Given the description of an element on the screen output the (x, y) to click on. 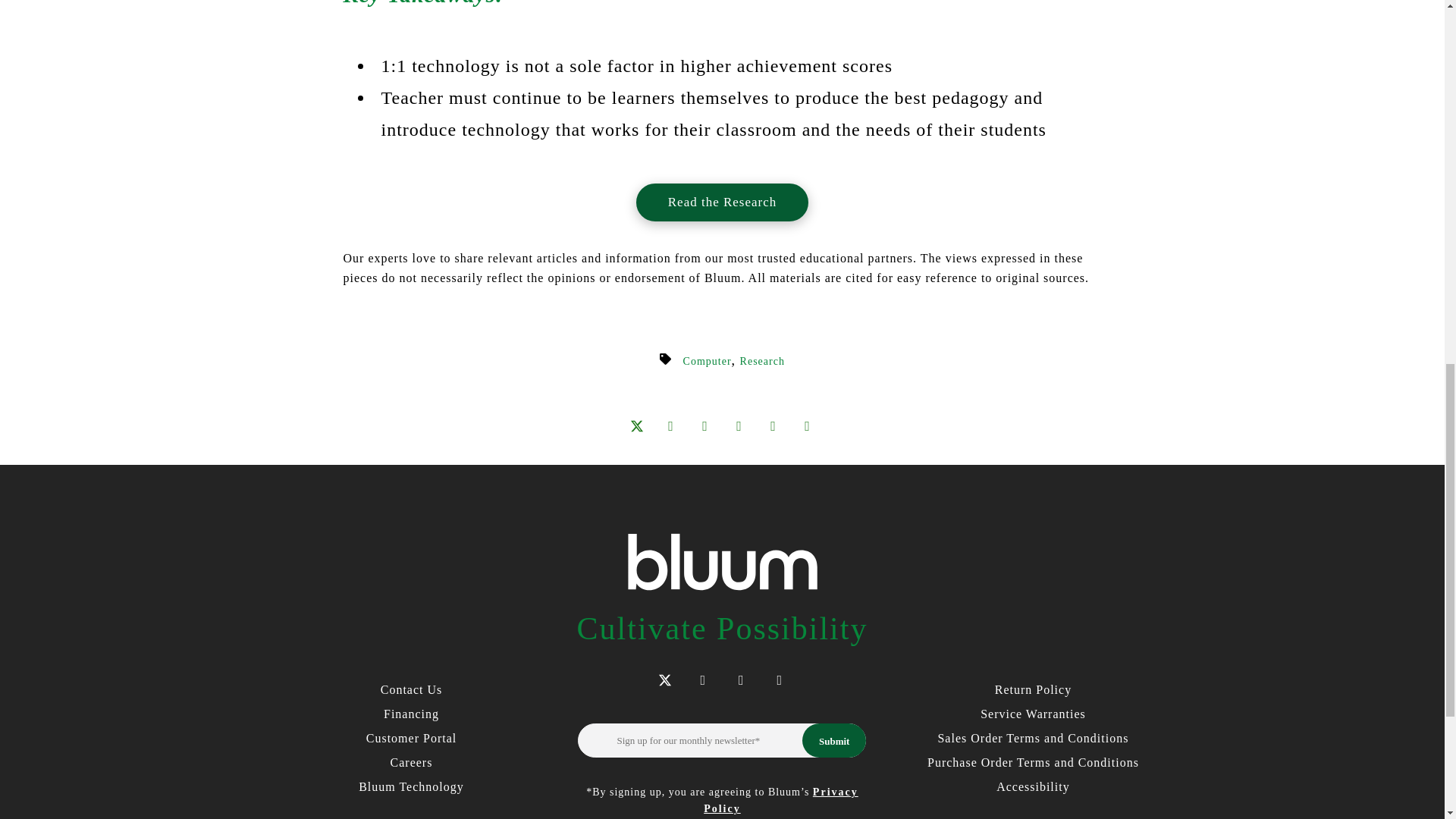
Submit (834, 740)
Tweet (636, 426)
Share on Email (739, 426)
Share on Facebook (704, 426)
Share on LinkedIn (671, 426)
